Given the description of an element on the screen output the (x, y) to click on. 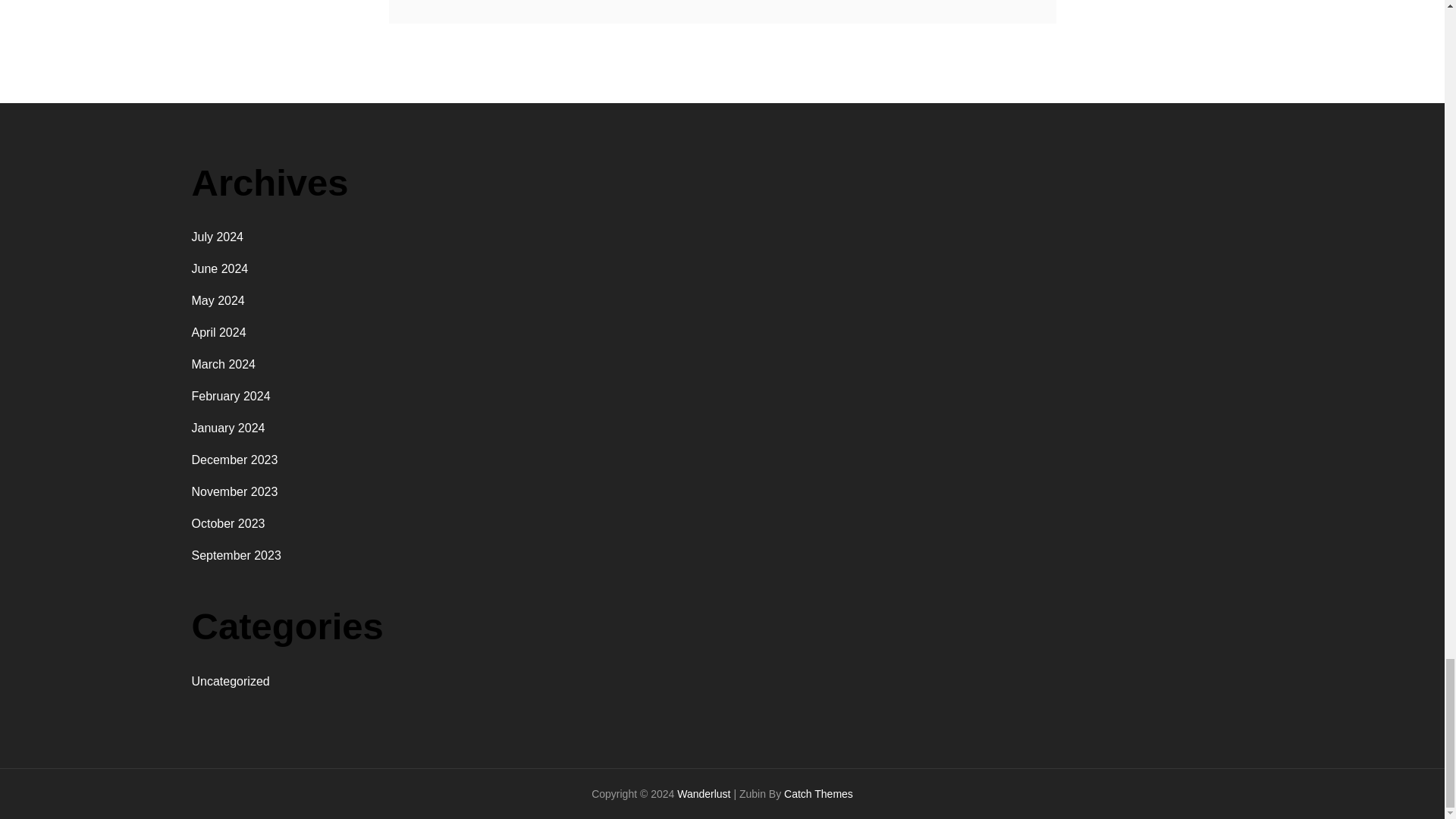
May 2024 (217, 300)
Uncategorized (229, 680)
April 2024 (218, 332)
July 2024 (216, 236)
March 2024 (223, 364)
Wanderlust (703, 793)
Catch Themes (818, 793)
June 2024 (218, 268)
January 2024 (227, 427)
February 2024 (229, 395)
December 2023 (234, 459)
October 2023 (227, 522)
November 2023 (234, 491)
September 2023 (235, 554)
